Given the description of an element on the screen output the (x, y) to click on. 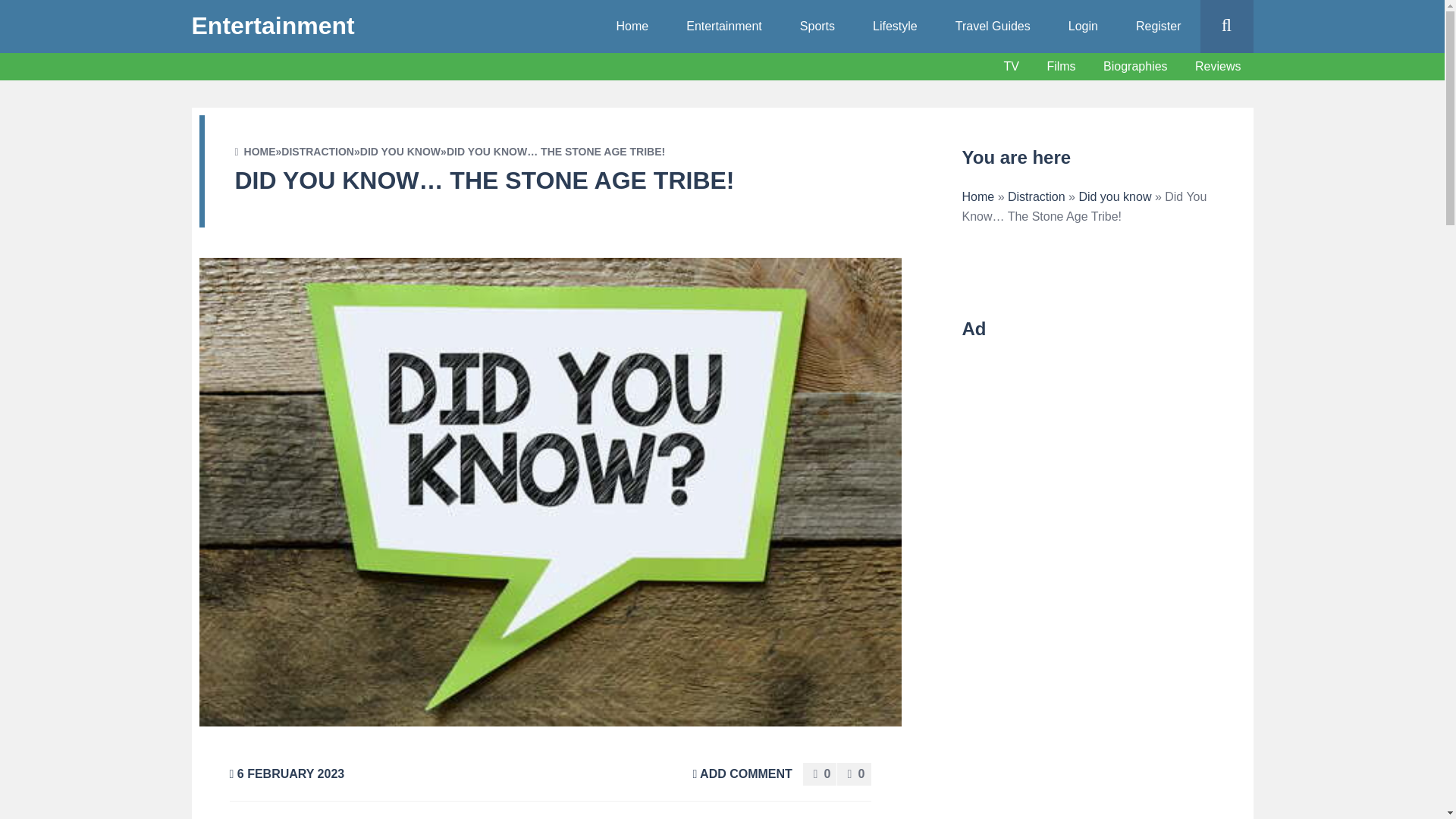
Travel Guides (992, 26)
Advertisement (1087, 453)
Go (1256, 79)
Films (1060, 65)
Did you know (1114, 196)
Entertainment (271, 25)
Films (1060, 66)
Did you know (400, 151)
Distraction (1036, 196)
TV (1010, 66)
